Given the description of an element on the screen output the (x, y) to click on. 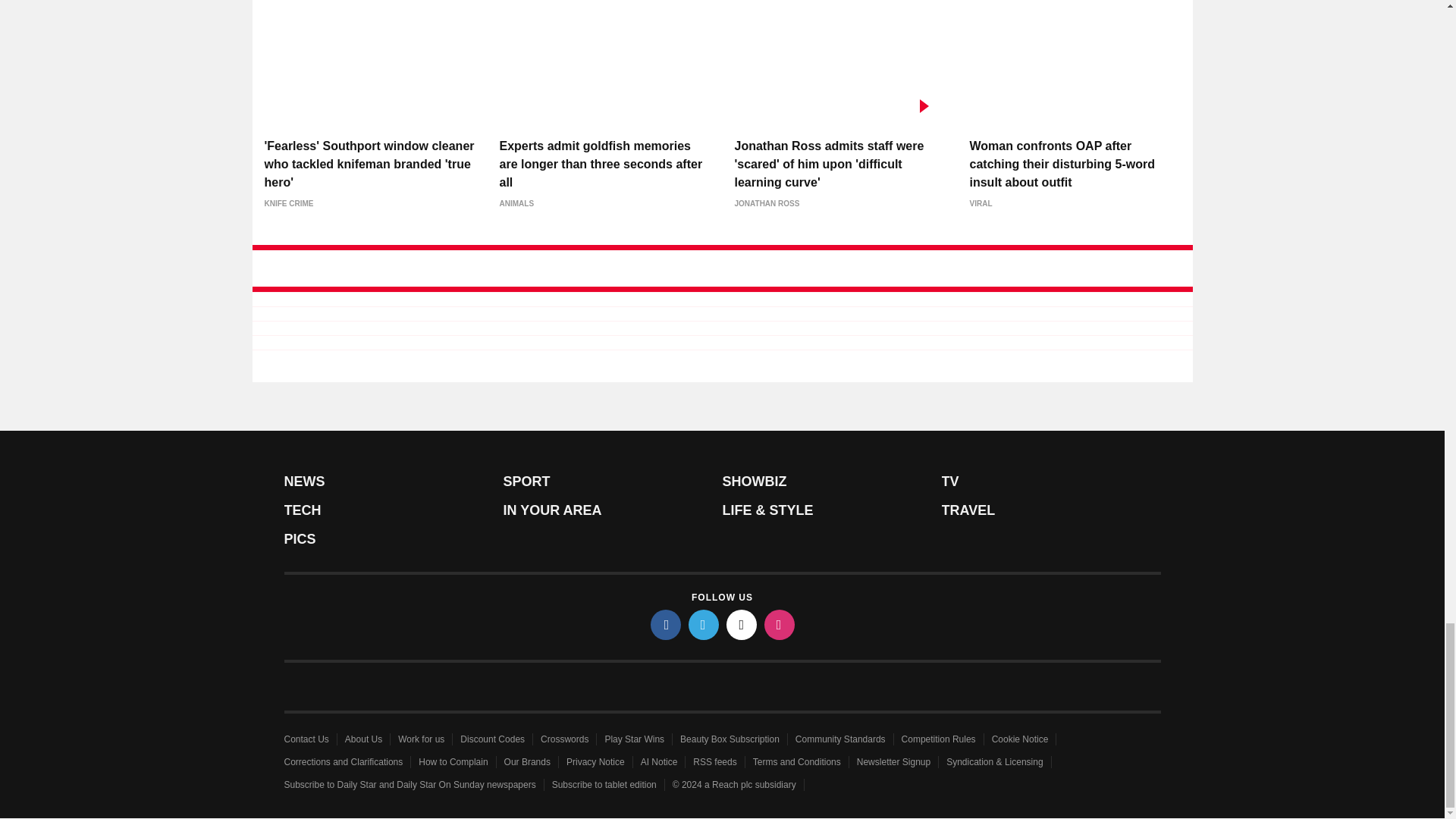
tiktok (741, 624)
facebook (665, 624)
twitter (703, 624)
instagram (779, 624)
